Given the description of an element on the screen output the (x, y) to click on. 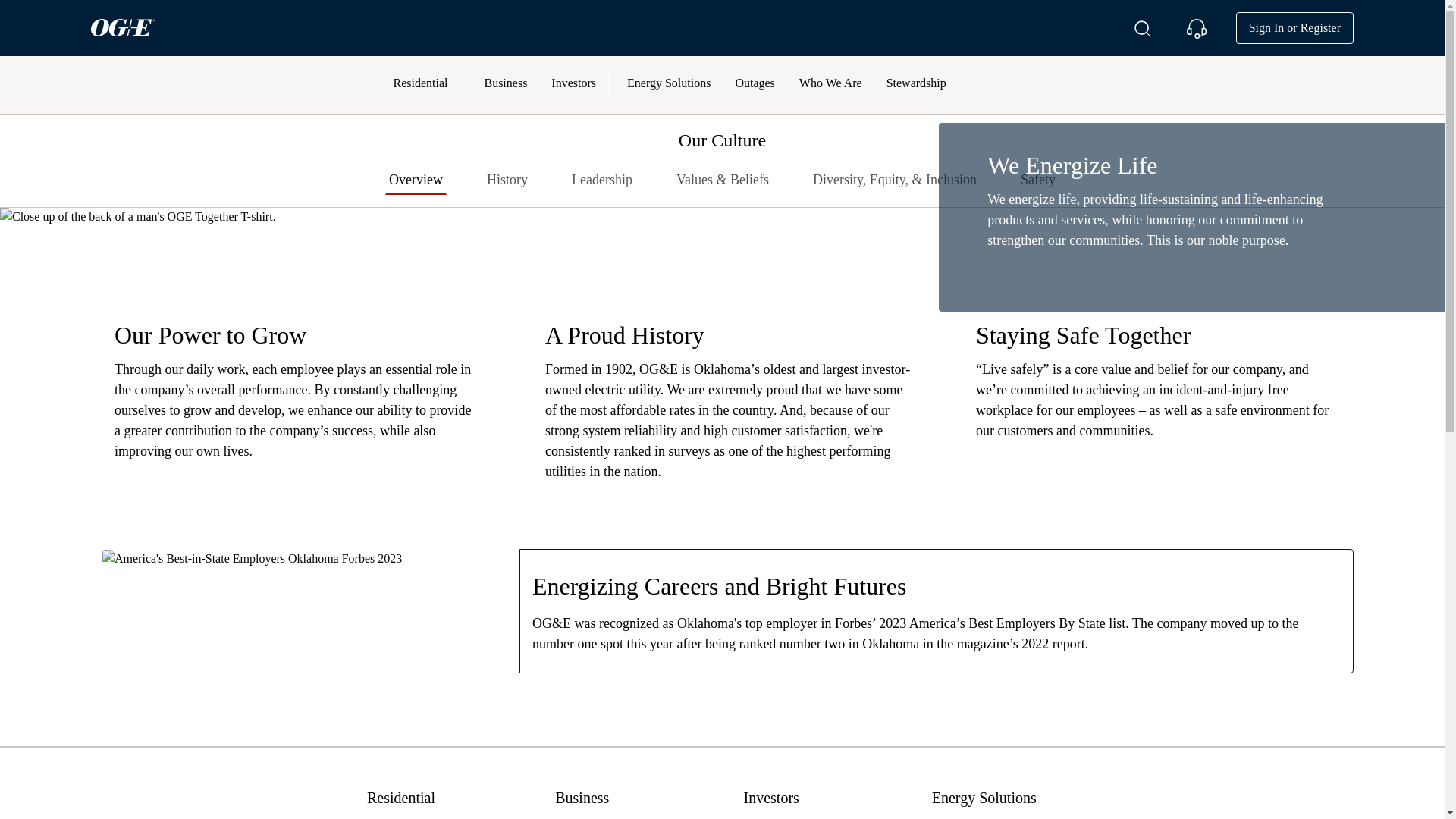
Energy Solutions (668, 84)
Sign In or Register (1295, 28)
Investors (573, 84)
Residential (420, 84)
Outages (754, 84)
Who We Are (831, 84)
Business (504, 84)
